Given the description of an element on the screen output the (x, y) to click on. 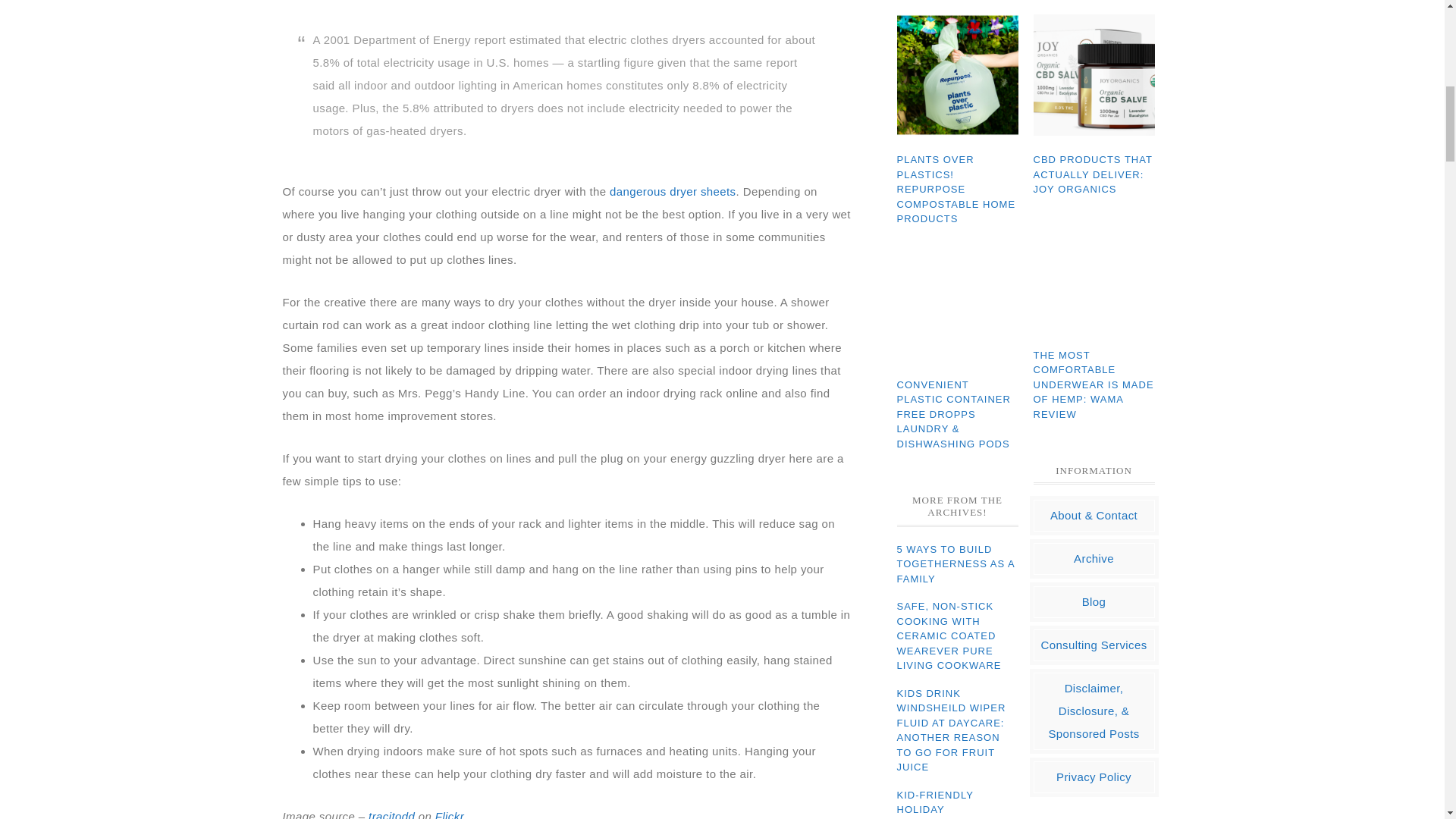
tracitodd (391, 814)
dangerous dryer sheets (672, 191)
Flickr (449, 814)
